Given the description of an element on the screen output the (x, y) to click on. 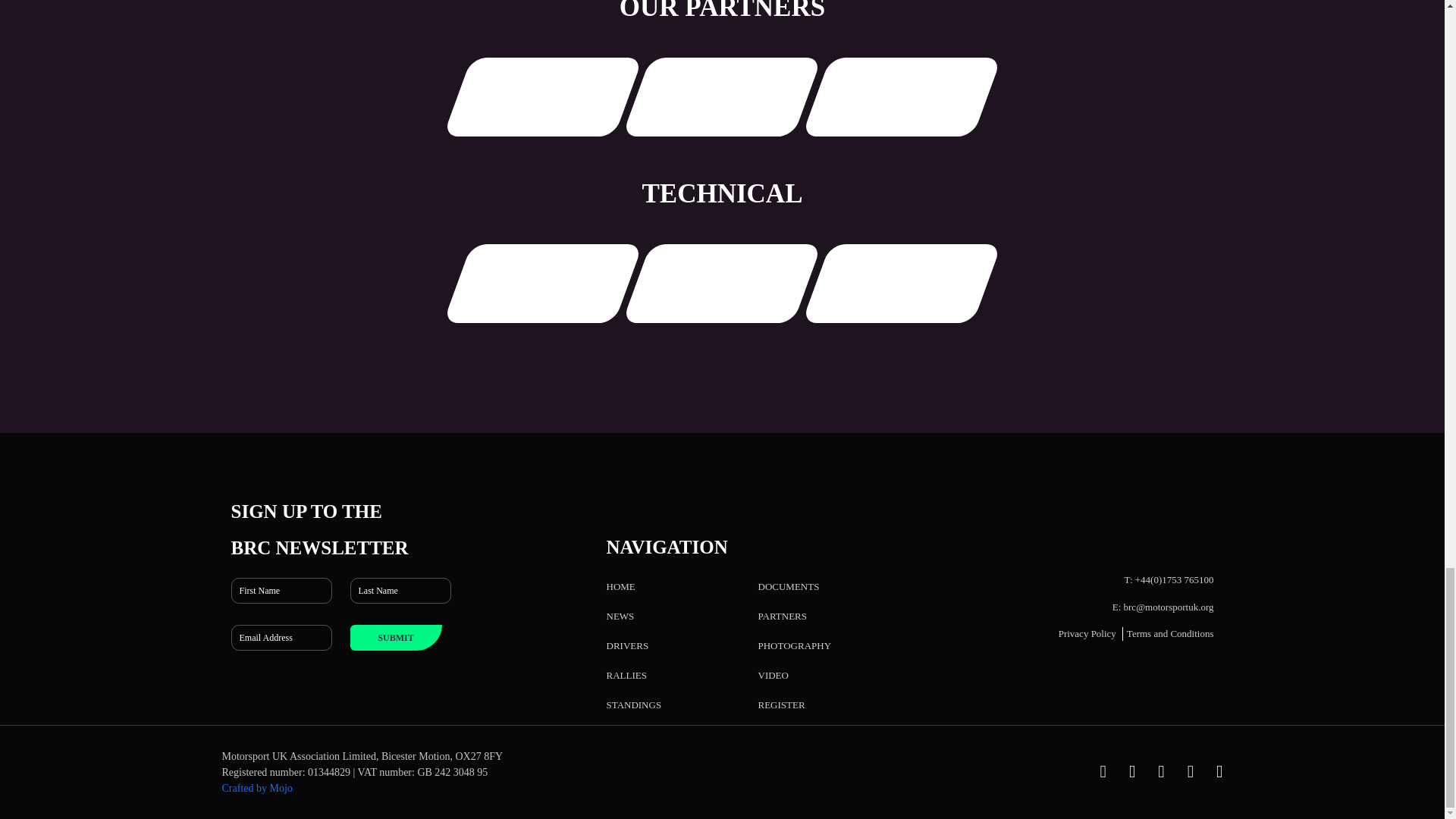
HOME (620, 586)
PARTNERS (783, 615)
NEWS (620, 615)
Crafted by Mojo (256, 787)
VIDEO (773, 674)
Privacy Policy (1087, 633)
REGISTER (781, 704)
RALLIES (626, 674)
Submit (396, 637)
DRIVERS (628, 645)
PHOTOGRAPHY (794, 645)
Terms and Conditions (1170, 633)
DOCUMENTS (788, 586)
STANDINGS (634, 704)
Submit (396, 637)
